Given the description of an element on the screen output the (x, y) to click on. 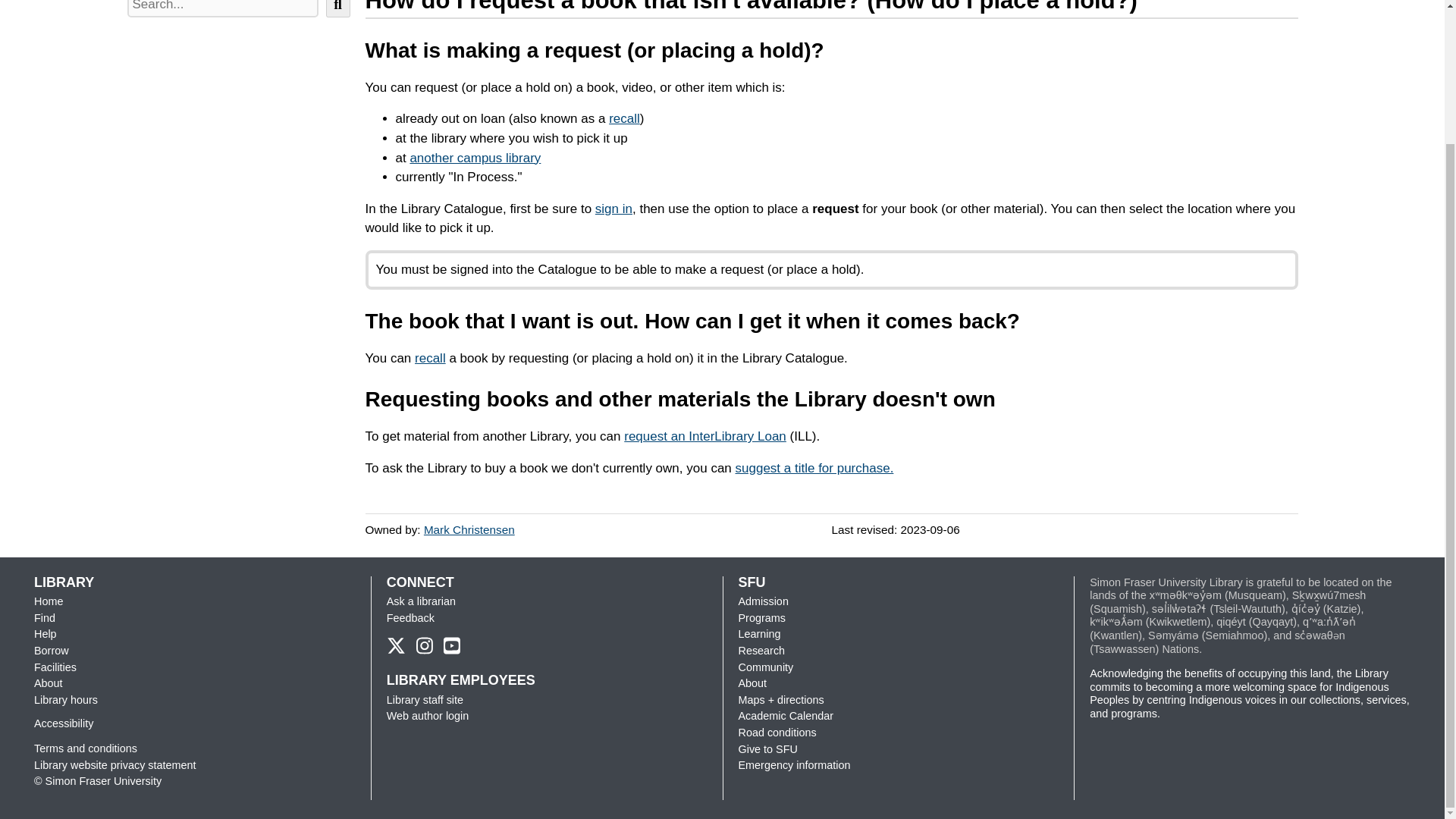
View user profile. (469, 529)
